Given the description of an element on the screen output the (x, y) to click on. 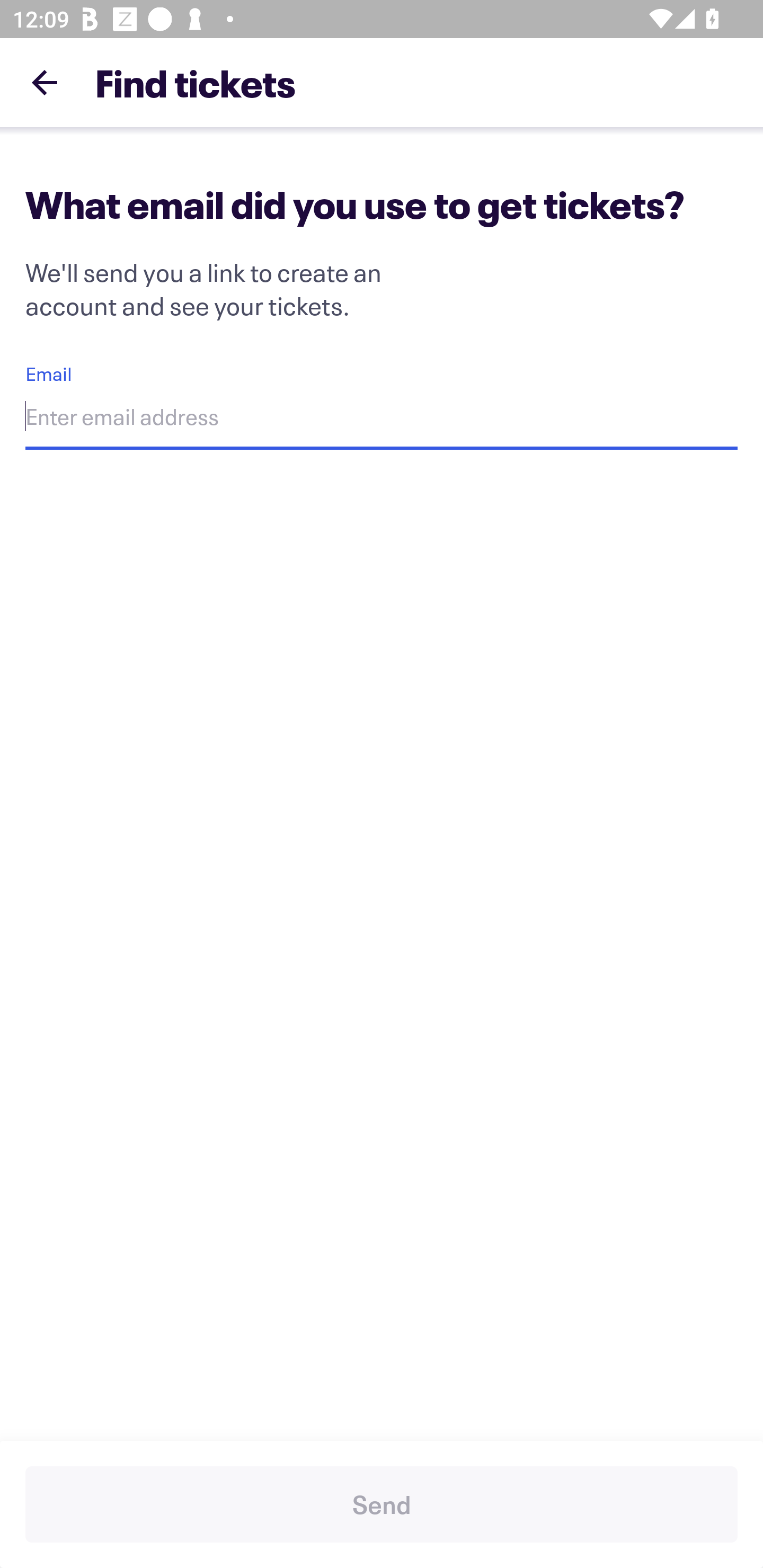
Navigate up (44, 82)
Enter email address (381, 419)
Send (381, 1504)
